Given the description of an element on the screen output the (x, y) to click on. 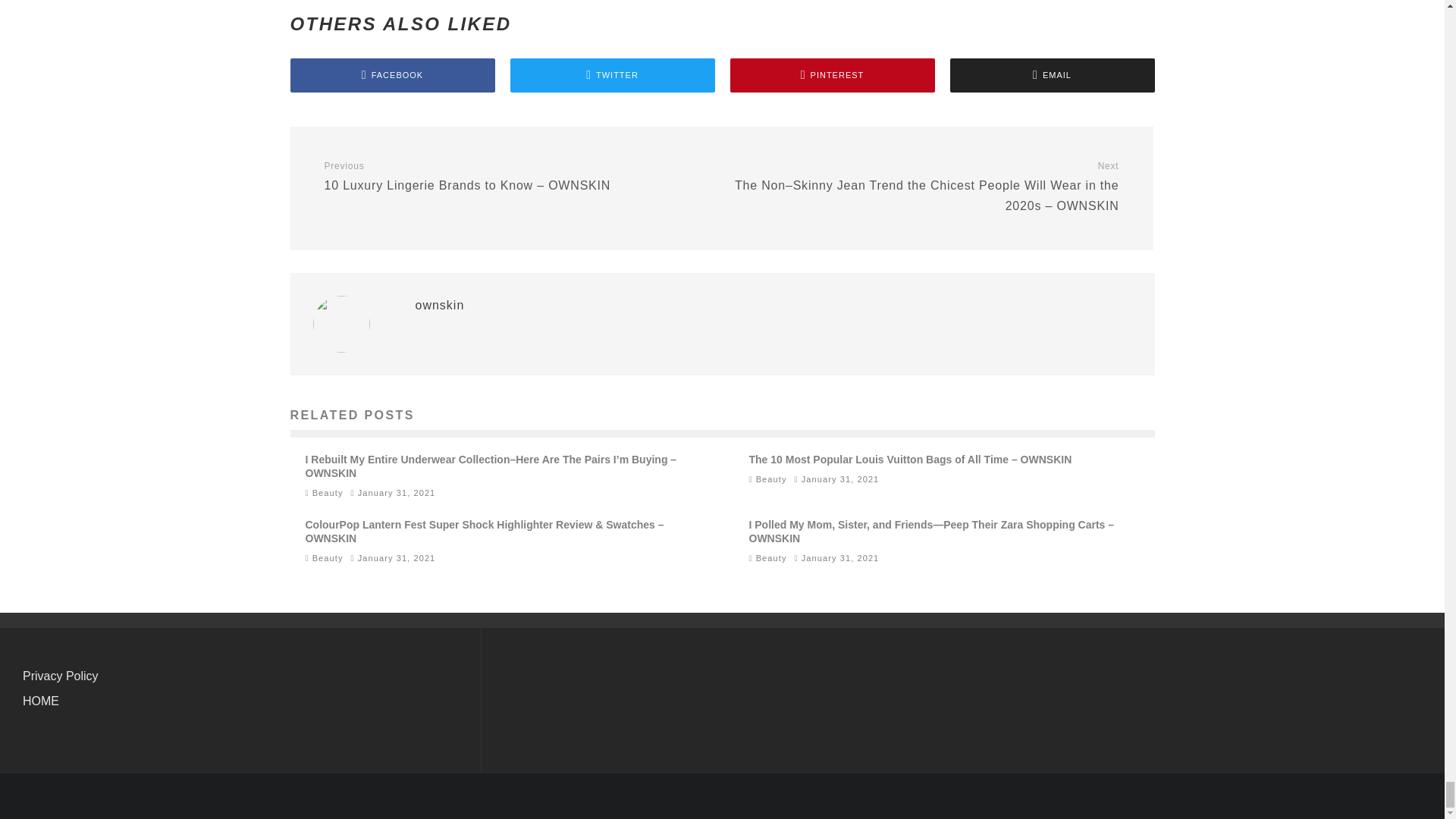
Beauty (328, 557)
PINTEREST (831, 75)
Privacy Policy (61, 675)
FACEBOOK (392, 75)
Beauty (771, 557)
EMAIL (1051, 75)
ownskin (439, 305)
TWITTER (611, 75)
Beauty (771, 479)
Beauty (328, 492)
HOME (41, 700)
